Given the description of an element on the screen output the (x, y) to click on. 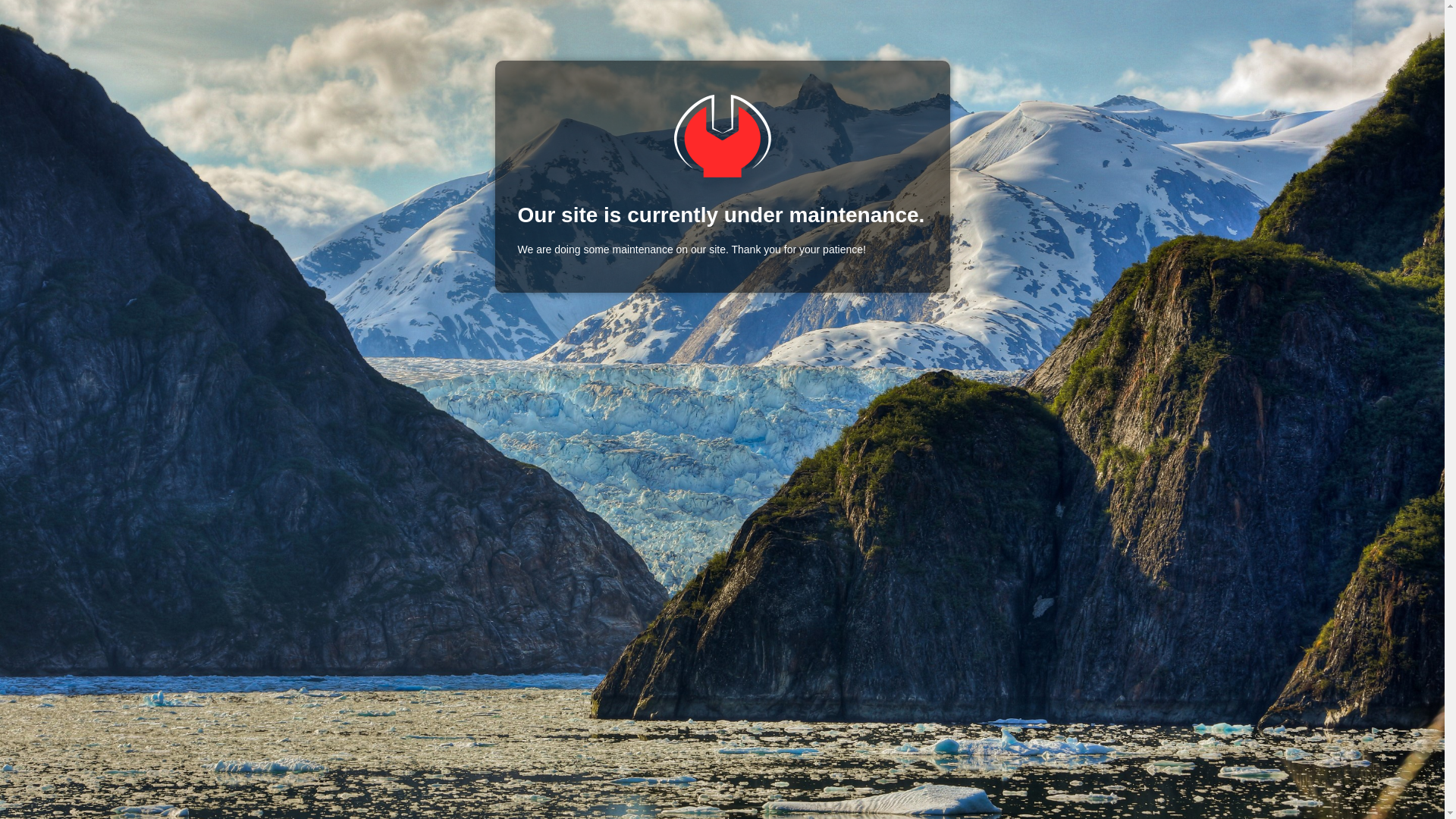
Medical Cannabis Doctors Clinic Melbourne Element type: hover (721, 135)
